Given the description of an element on the screen output the (x, y) to click on. 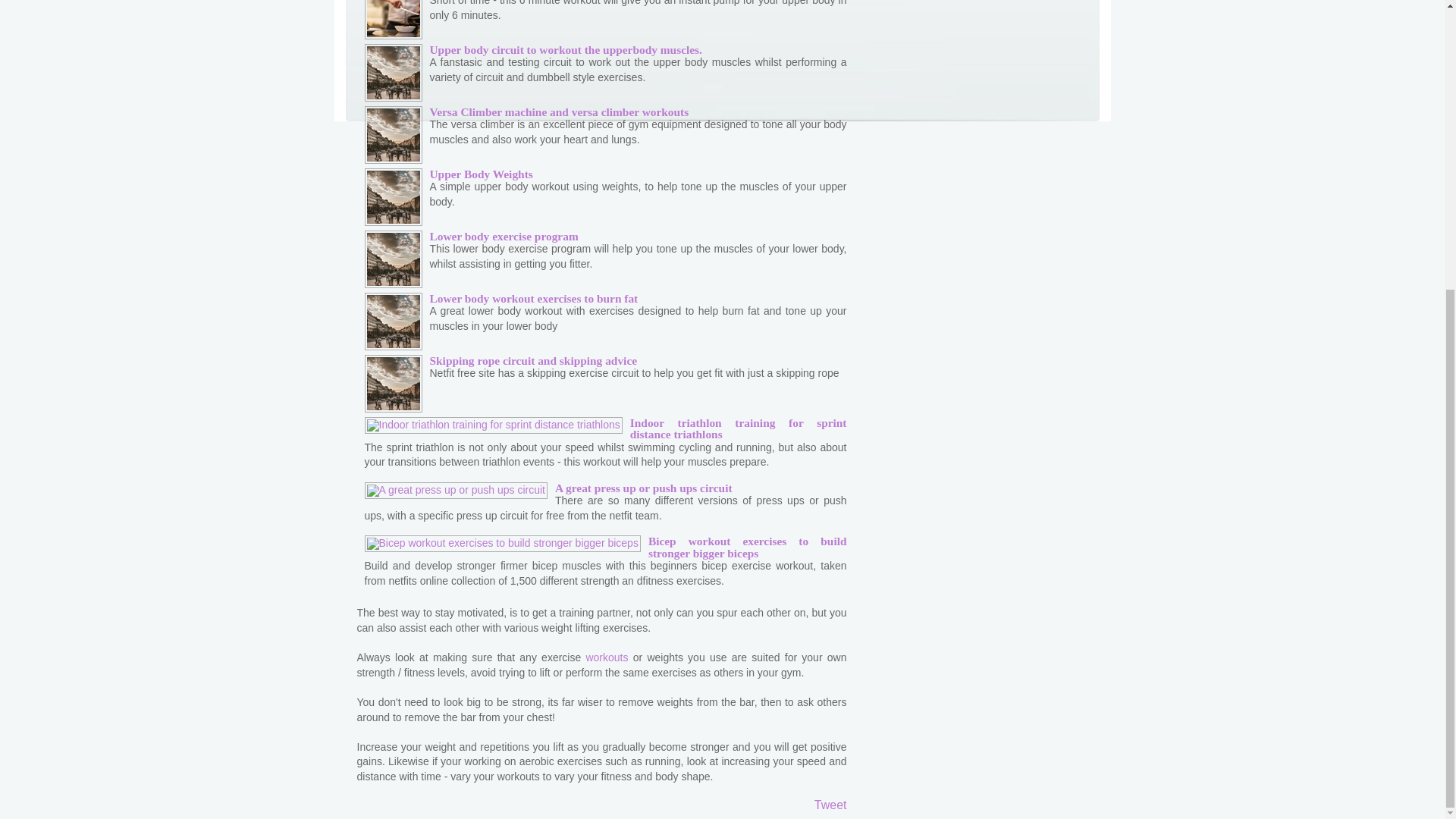
Lower body exercise program (503, 236)
Versa Climber machine and versa climber workouts (558, 111)
Upper Body Weights (480, 173)
Upper body circuit to workout the upperbody muscles. (565, 49)
Lower body workout exercises to burn fat (533, 297)
Skipping rope circuit and skipping advice (533, 359)
